Given the description of an element on the screen output the (x, y) to click on. 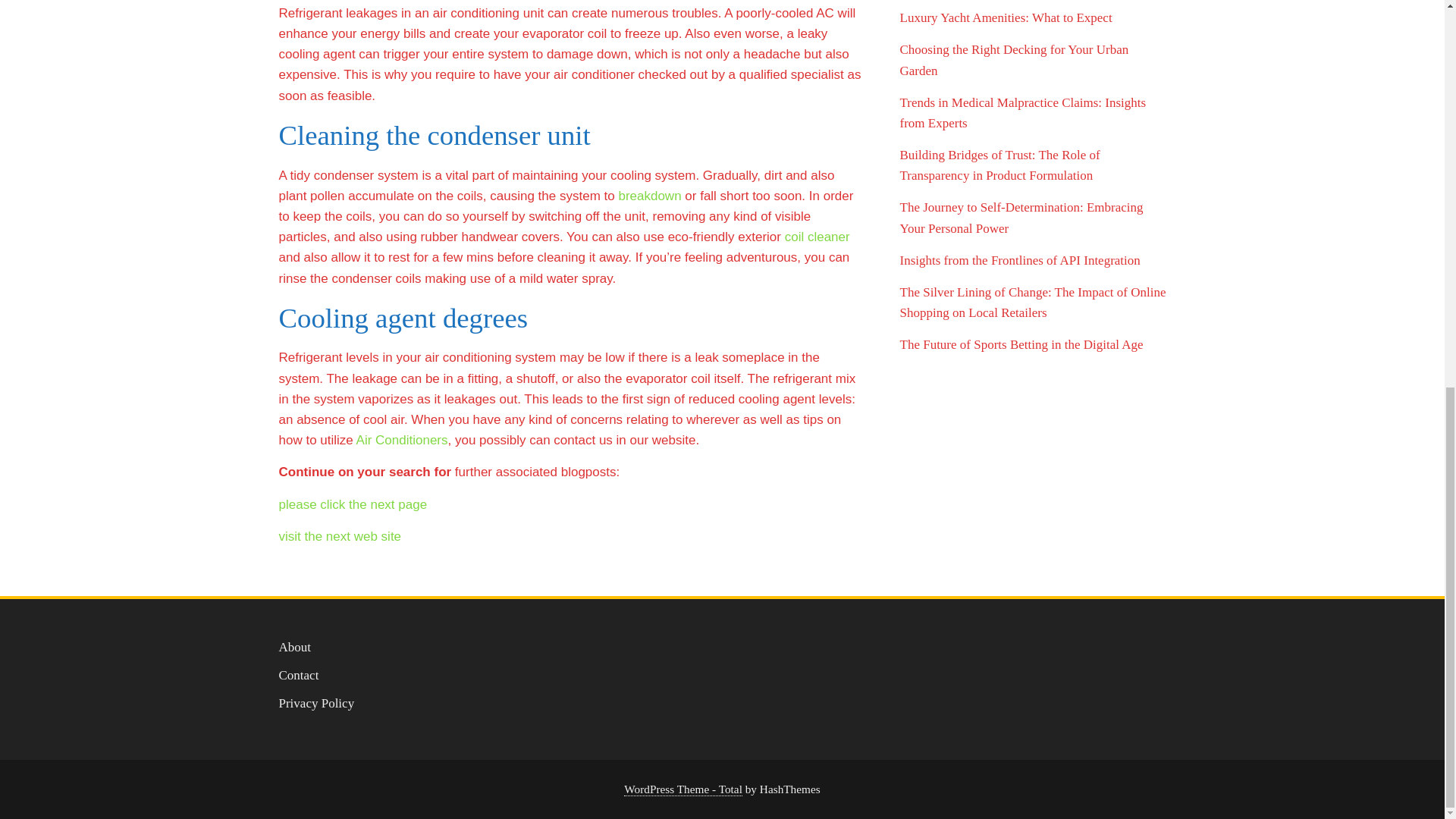
Choosing the Right Decking for Your Urban Garden (1013, 59)
Insights from the Frontlines of API Integration (1019, 260)
Trends in Medical Malpractice Claims: Insights from Experts (1022, 112)
please click the next page (353, 504)
breakdown (649, 196)
Contact (298, 675)
Luxury Yacht Amenities: What to Expect (1005, 17)
coil cleaner (817, 237)
